Given the description of an element on the screen output the (x, y) to click on. 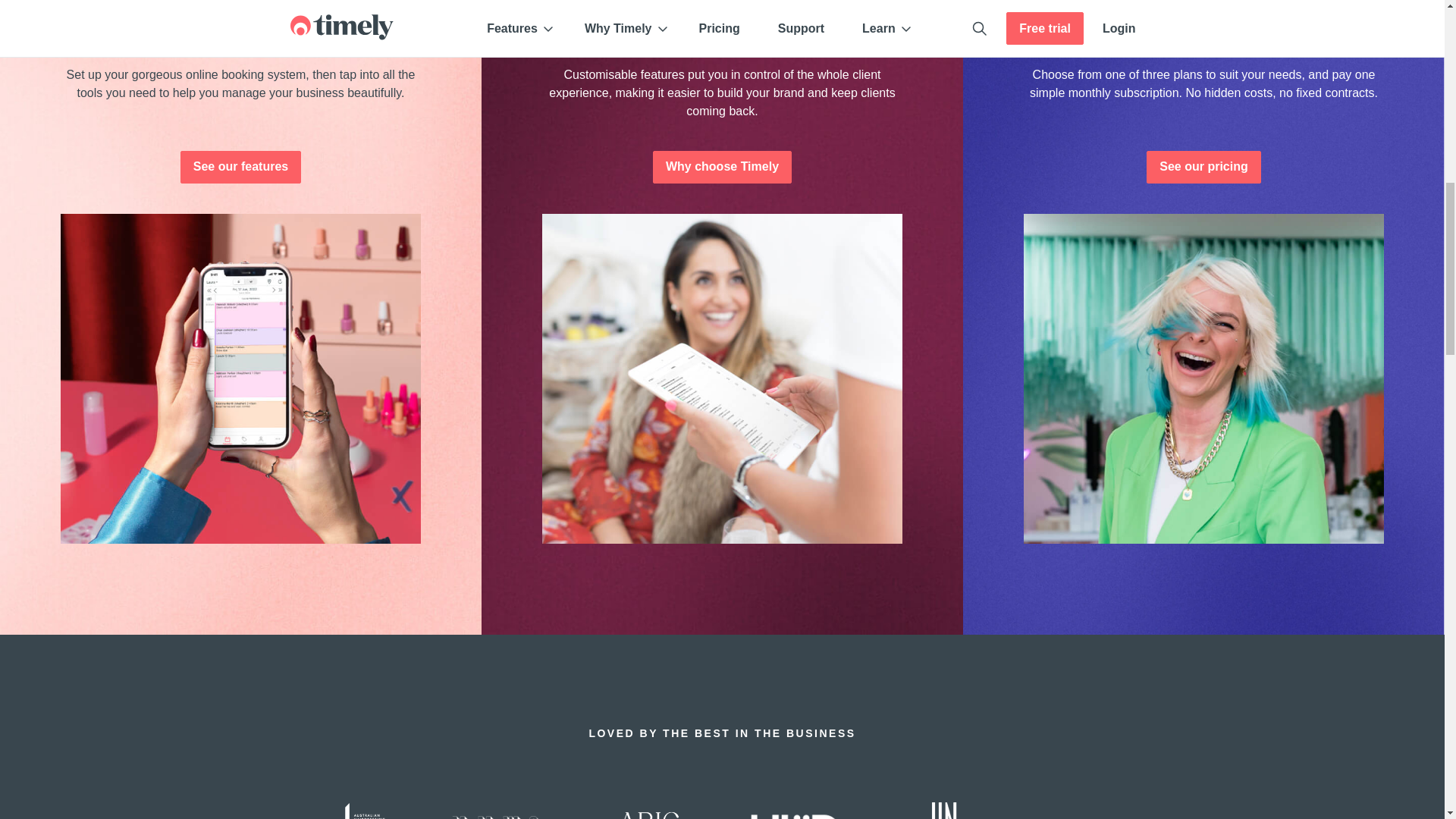
See our features (240, 166)
Why choose Timely (722, 166)
